Given the description of an element on the screen output the (x, y) to click on. 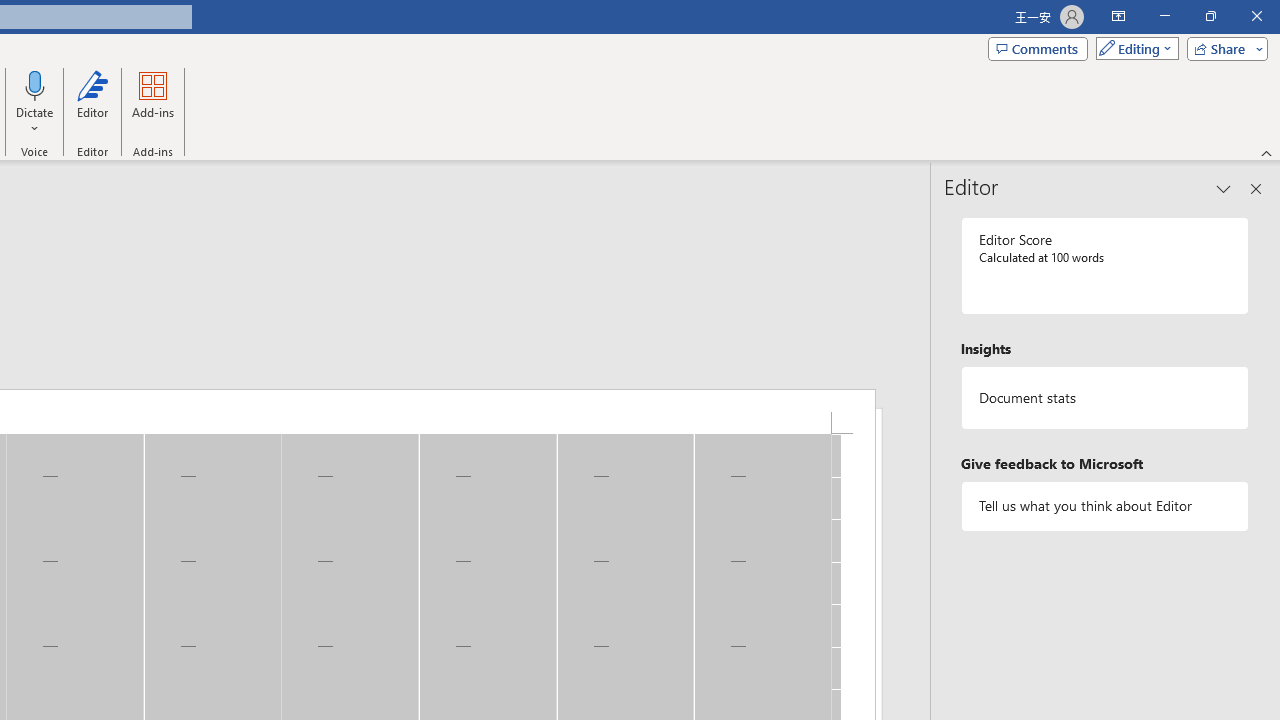
Document statistics (1105, 398)
Tell us what you think about Editor (1105, 506)
